Given the description of an element on the screen output the (x, y) to click on. 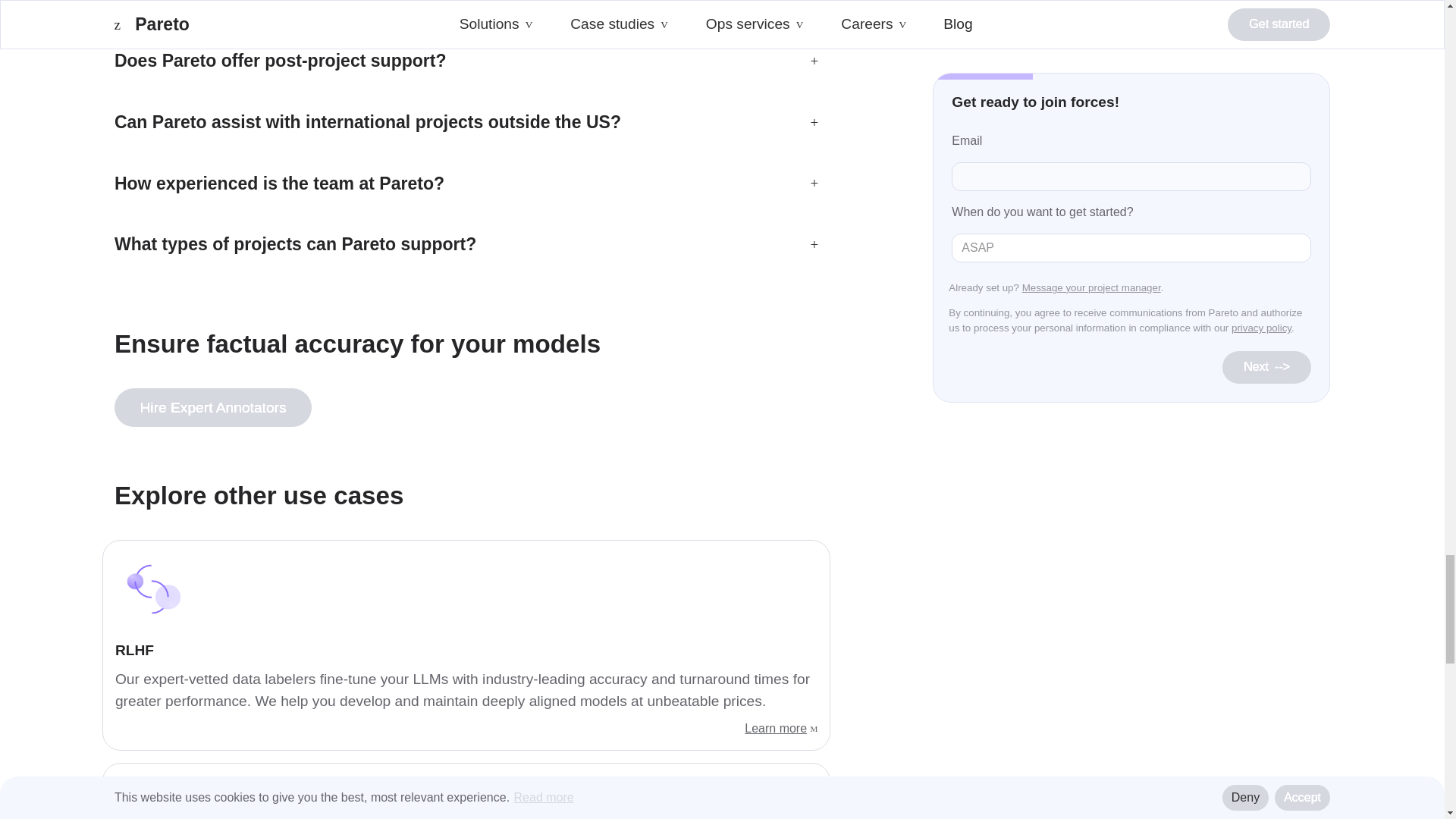
Hire Expert Annotators (213, 407)
